Given the description of an element on the screen output the (x, y) to click on. 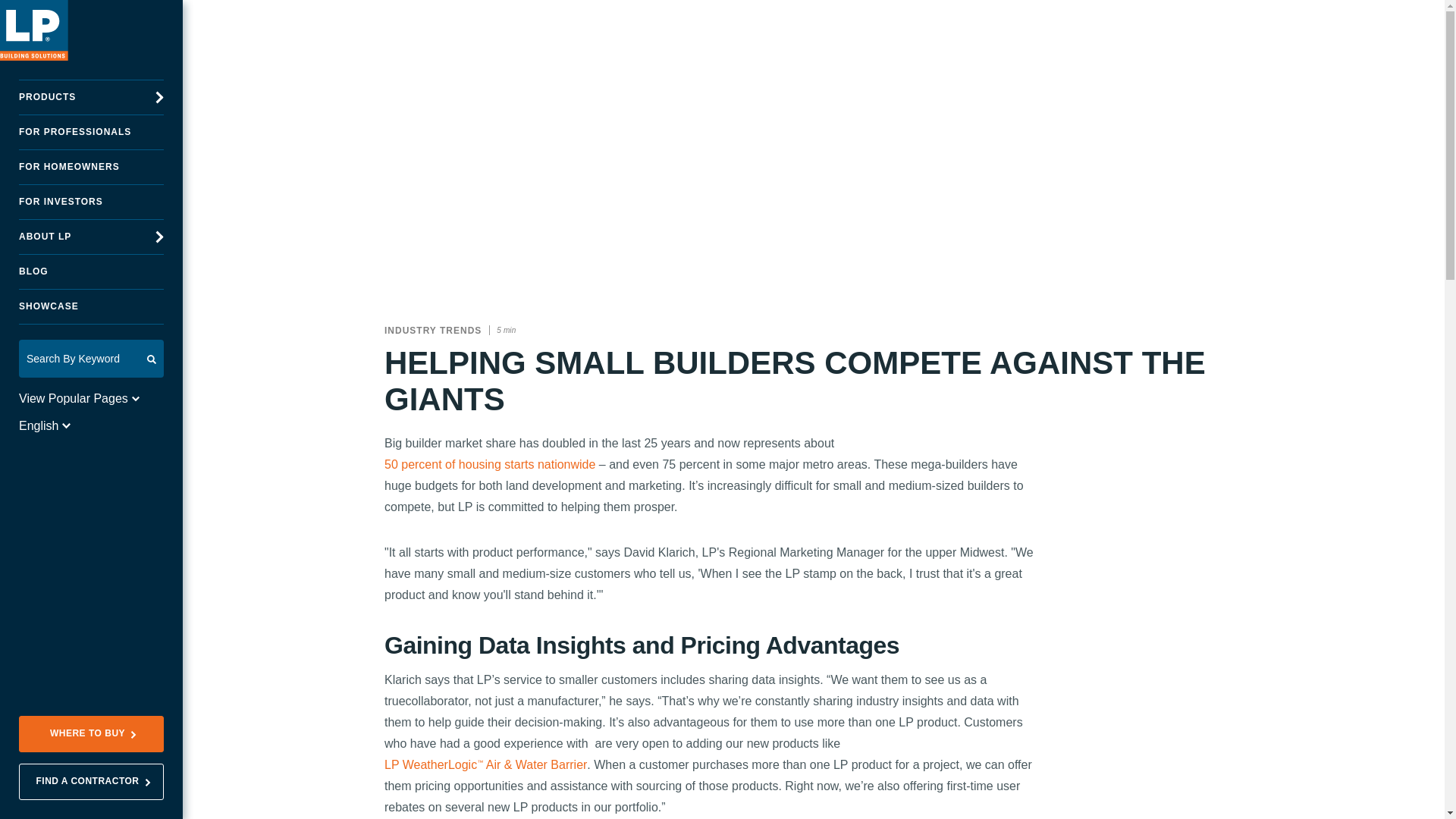
WHERE TO BUY (90, 733)
SHOWCASE (90, 306)
BLOG (90, 271)
FOR HOMEOWNERS (90, 166)
FOR INVESTORS (90, 202)
FIND A CONTRACTOR (90, 781)
FOR PROFESSIONALS (90, 132)
